Given the description of an element on the screen output the (x, y) to click on. 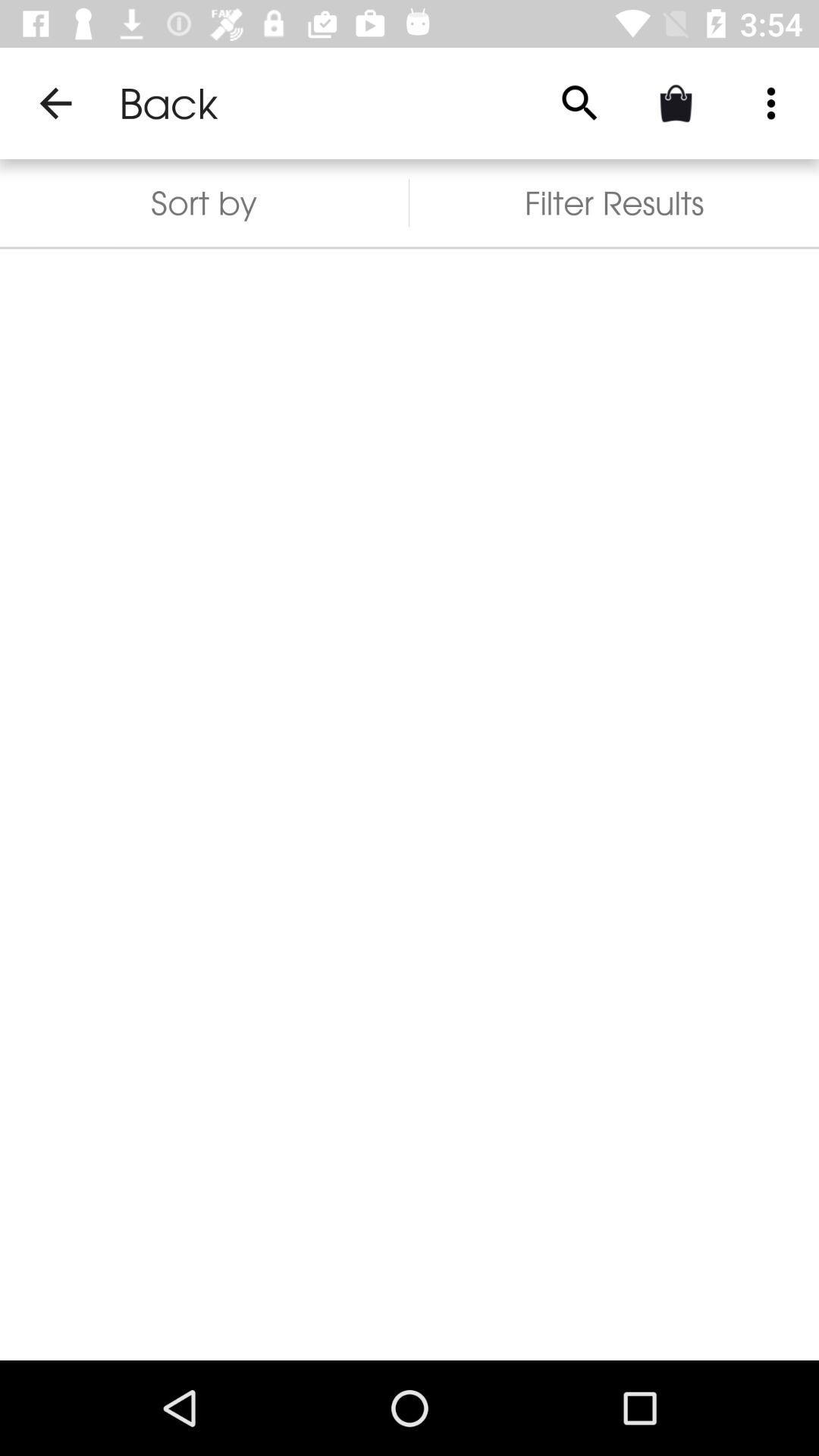
open the item next to sort by icon (614, 202)
